Given the description of an element on the screen output the (x, y) to click on. 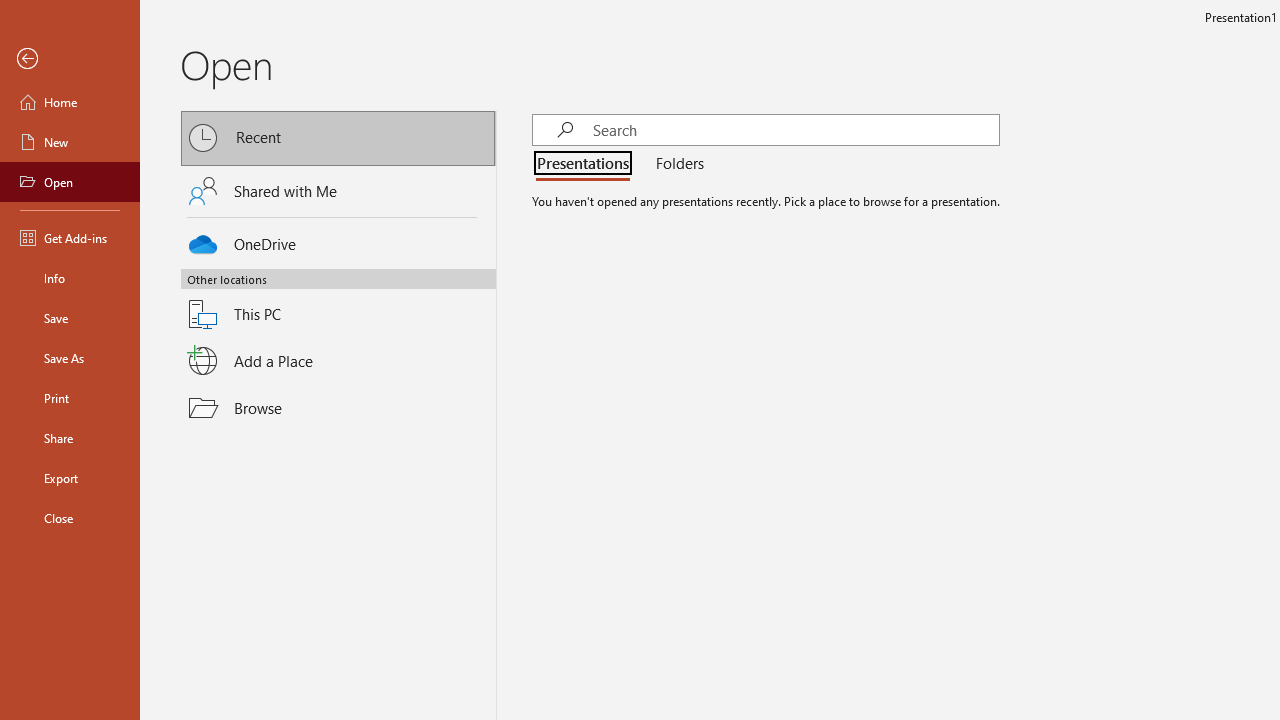
This PC (338, 302)
Back (69, 59)
Add a Place (338, 361)
Shared with Me (338, 191)
Get Add-ins (69, 237)
Browse (338, 407)
Print (69, 398)
Recent (338, 138)
Export (69, 477)
Folders (676, 164)
